Given the description of an element on the screen output the (x, y) to click on. 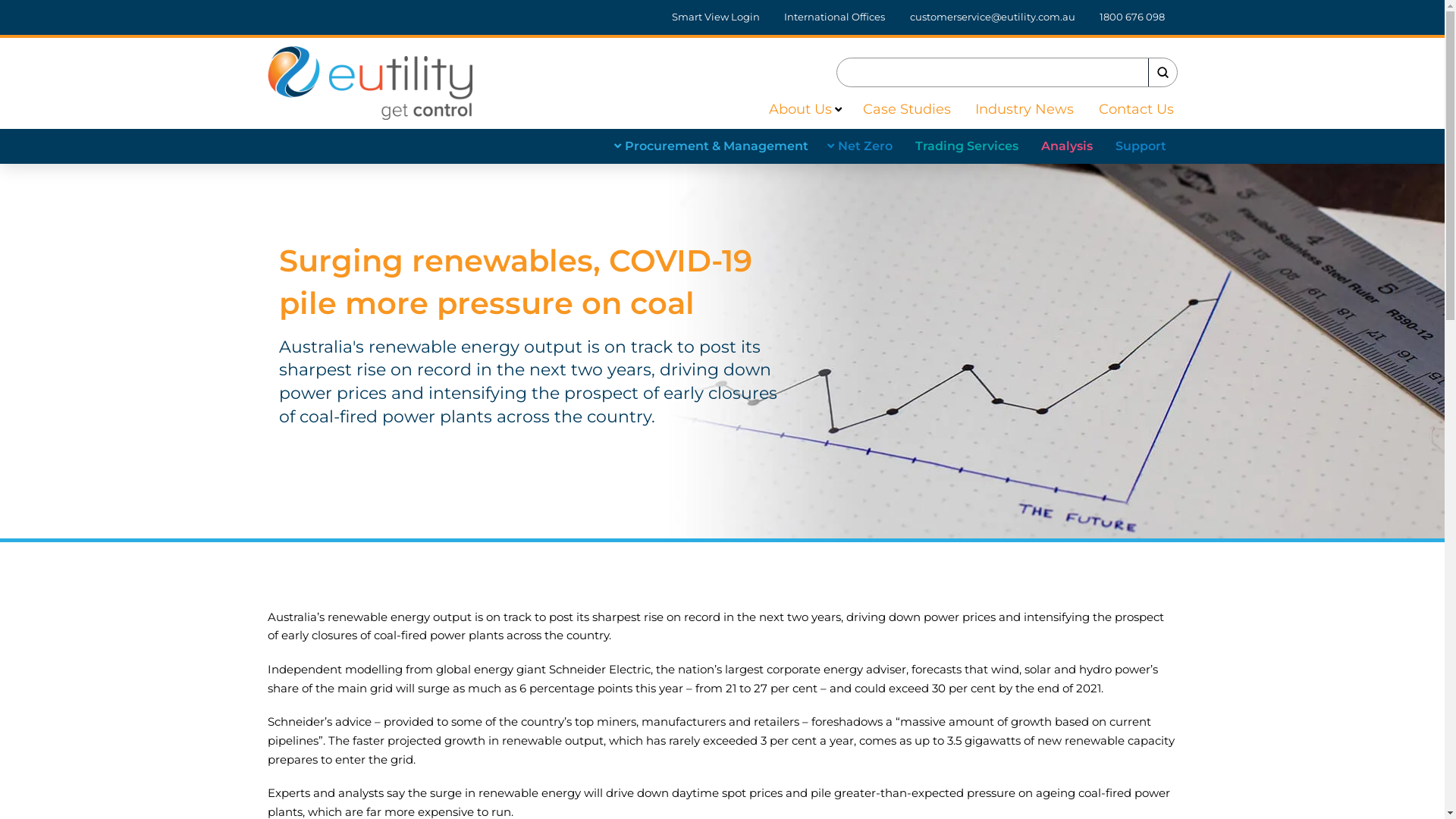
About Us Element type: text (794, 108)
Analysis Element type: text (1066, 146)
Smart View Login Element type: text (715, 17)
Net Zero Element type: text (860, 146)
1800 676 098 Element type: text (1132, 17)
Case Studies Element type: text (897, 108)
Support Element type: text (1140, 146)
customerservice@eutility.com.au Element type: text (992, 17)
Trading Services Element type: text (966, 146)
Procurement & Management Element type: text (713, 146)
Contact Us Element type: text (1127, 108)
Submit Element type: text (1162, 72)
International Offices Element type: text (834, 17)
Industry News Element type: text (1015, 108)
